Given the description of an element on the screen output the (x, y) to click on. 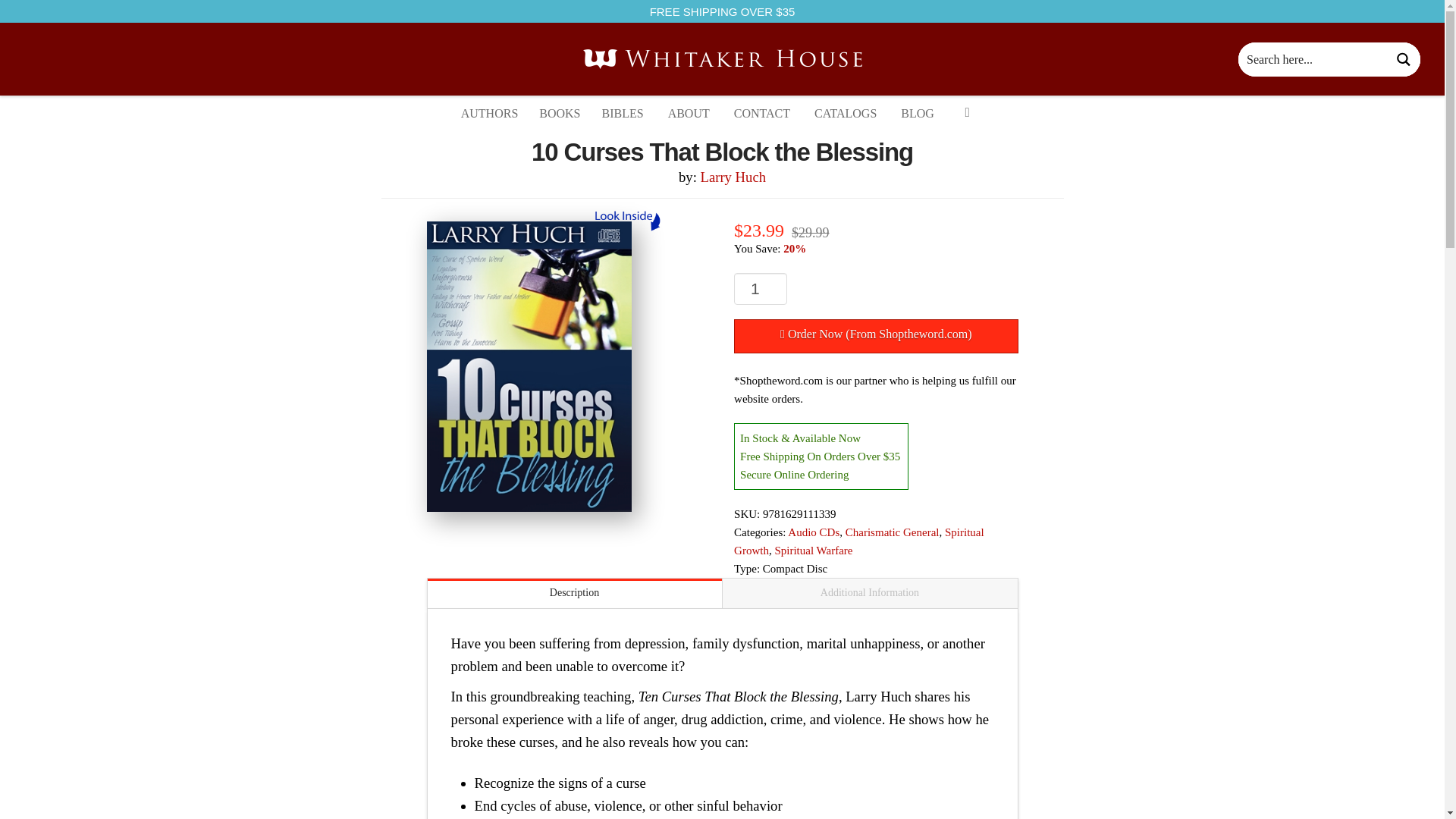
BLOG (916, 113)
1 (760, 288)
Additional Information (869, 593)
Spiritual Growth (858, 541)
ABOUT (689, 113)
Charismatic General (892, 532)
Qty (760, 288)
BOOKS (559, 113)
AUTHORS (489, 113)
Spiritual Warfare (812, 550)
